Given the description of an element on the screen output the (x, y) to click on. 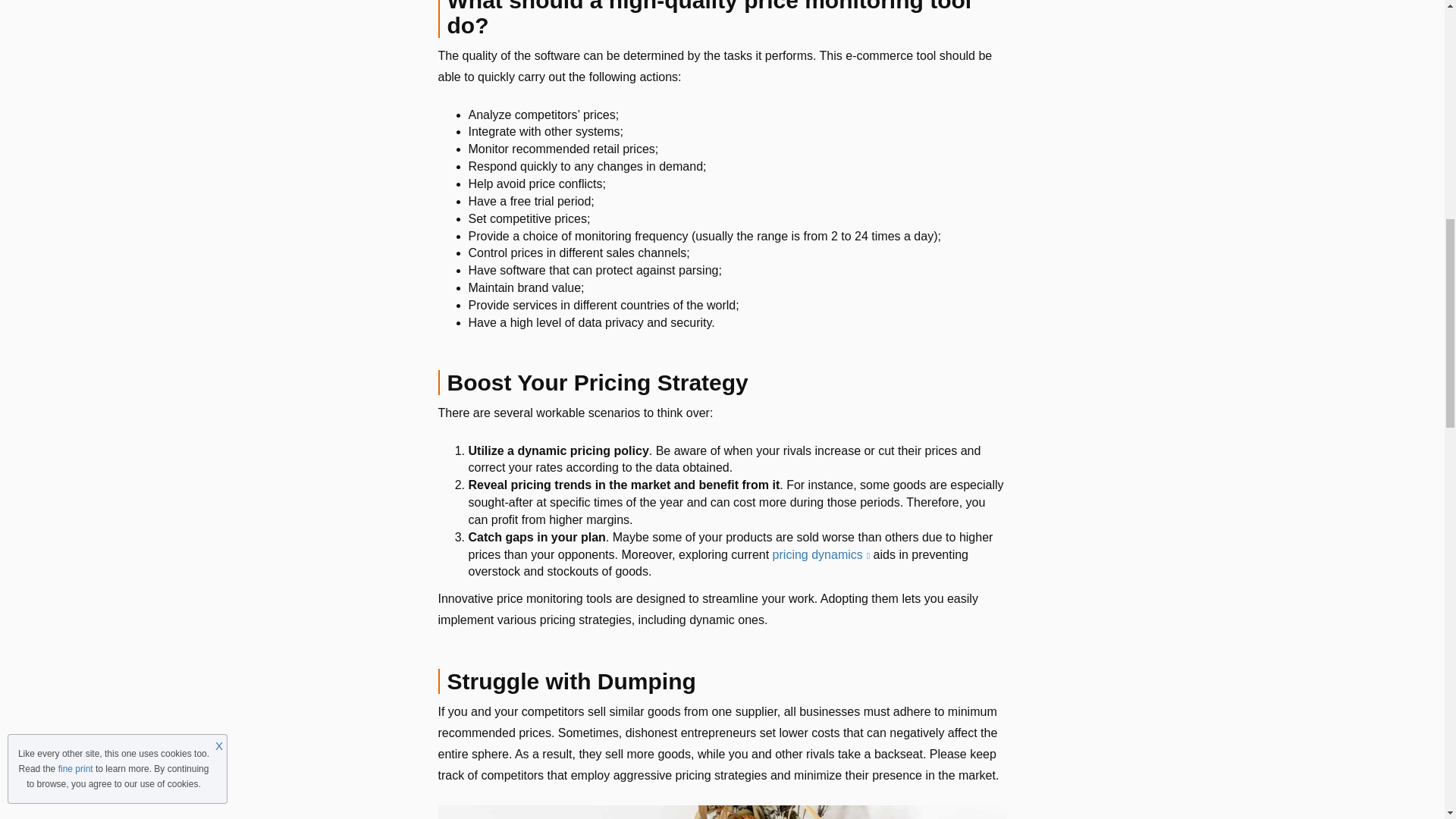
pricing dynamics (821, 554)
